Given the description of an element on the screen output the (x, y) to click on. 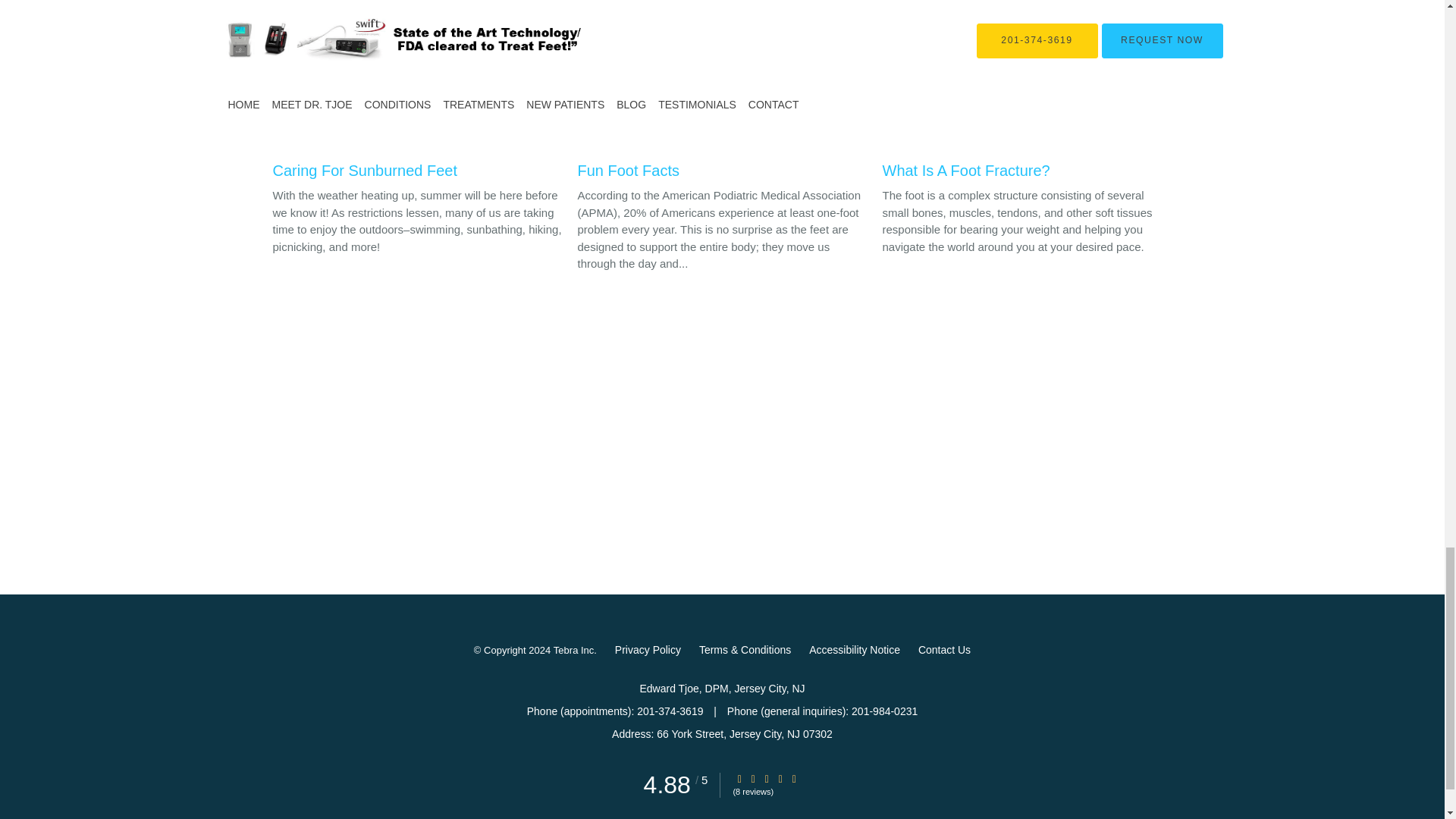
Star Rating (753, 778)
Star Rating (738, 778)
Star Rating (780, 778)
Star Rating (794, 778)
Star Rating (766, 778)
